Given the description of an element on the screen output the (x, y) to click on. 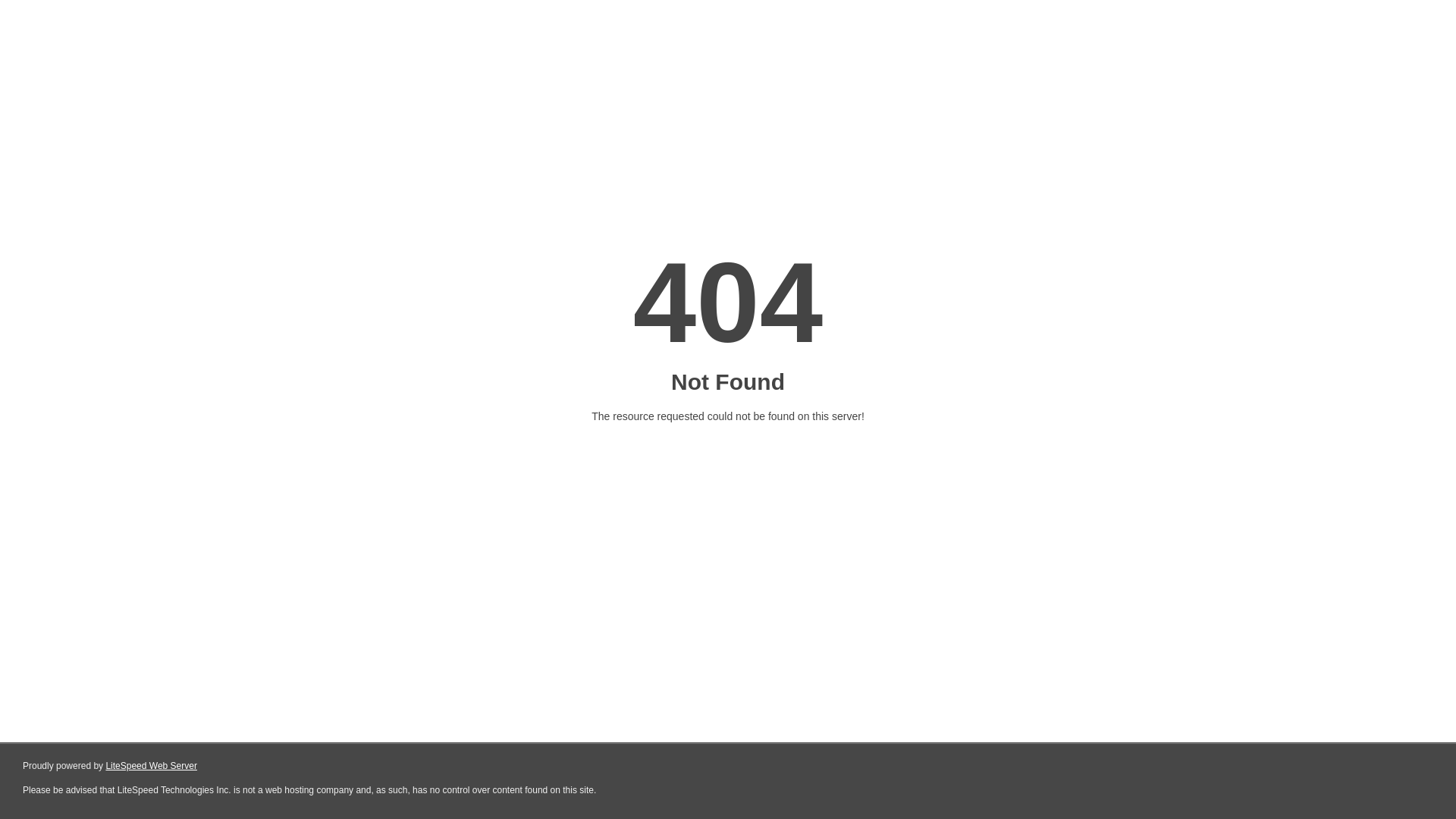
LiteSpeed Web Server Element type: text (151, 765)
